Given the description of an element on the screen output the (x, y) to click on. 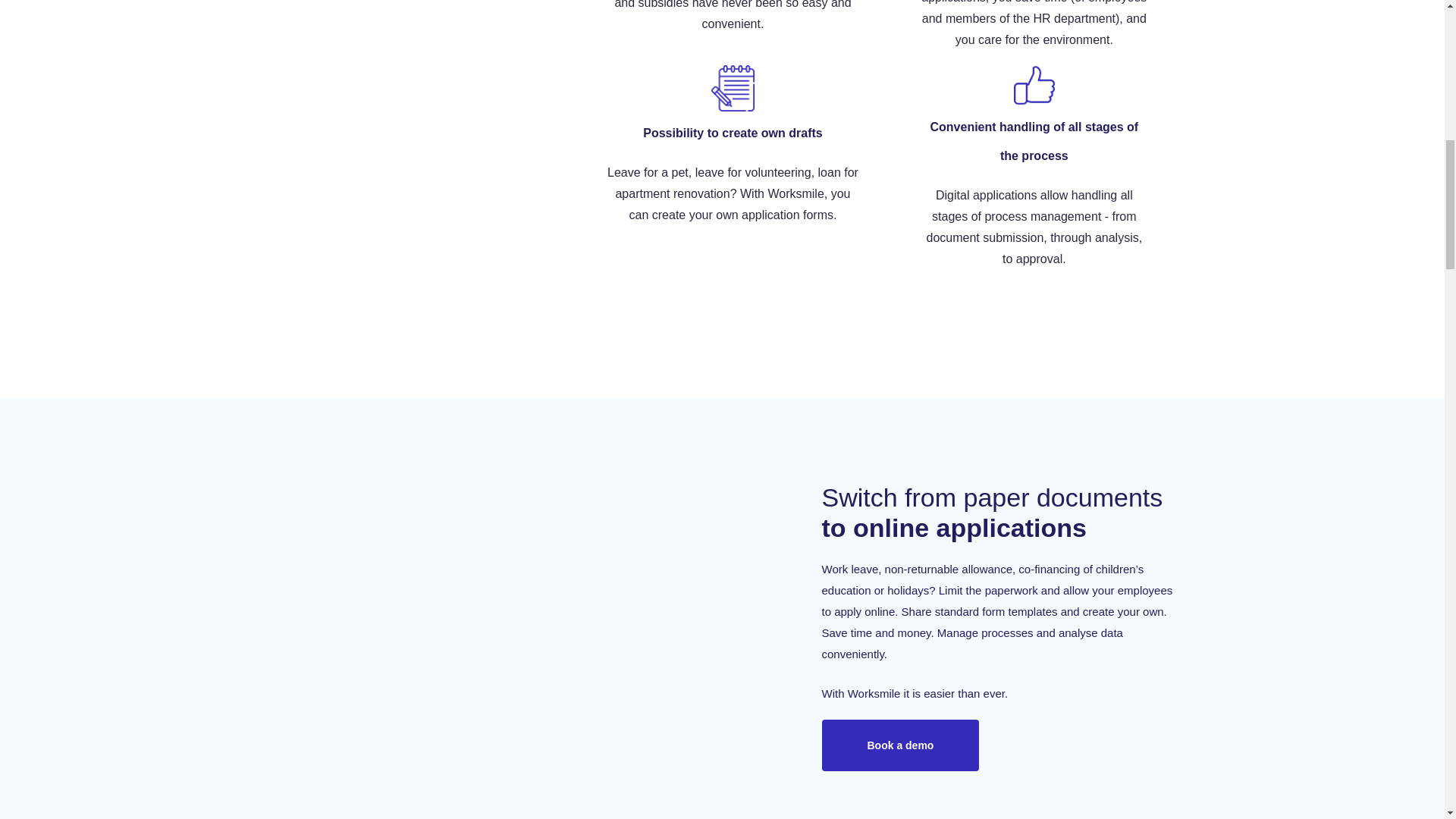
Book a demo (900, 745)
